Given the description of an element on the screen output the (x, y) to click on. 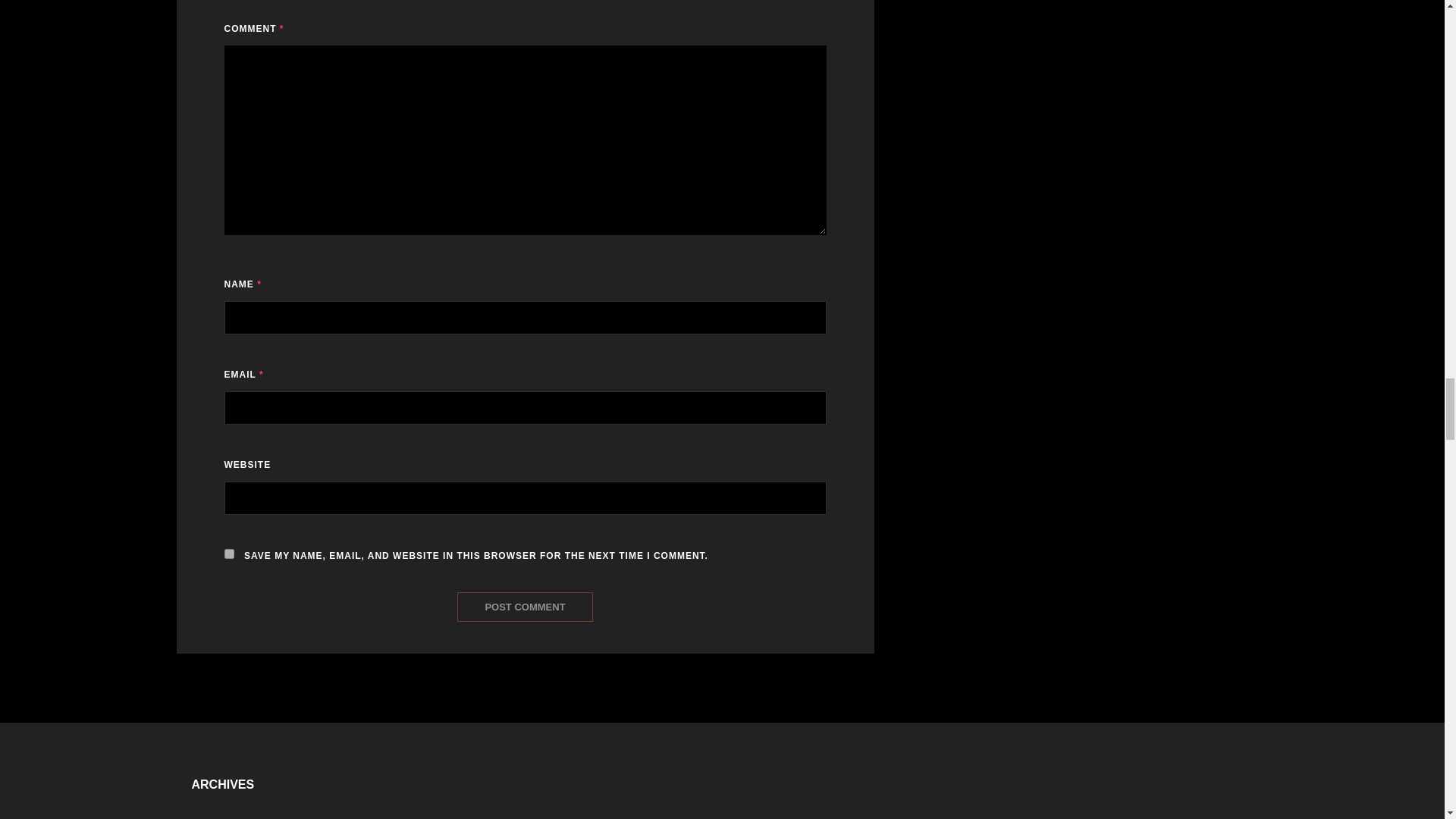
Post Comment (524, 606)
yes (229, 553)
Post Comment (524, 606)
